Given the description of an element on the screen output the (x, y) to click on. 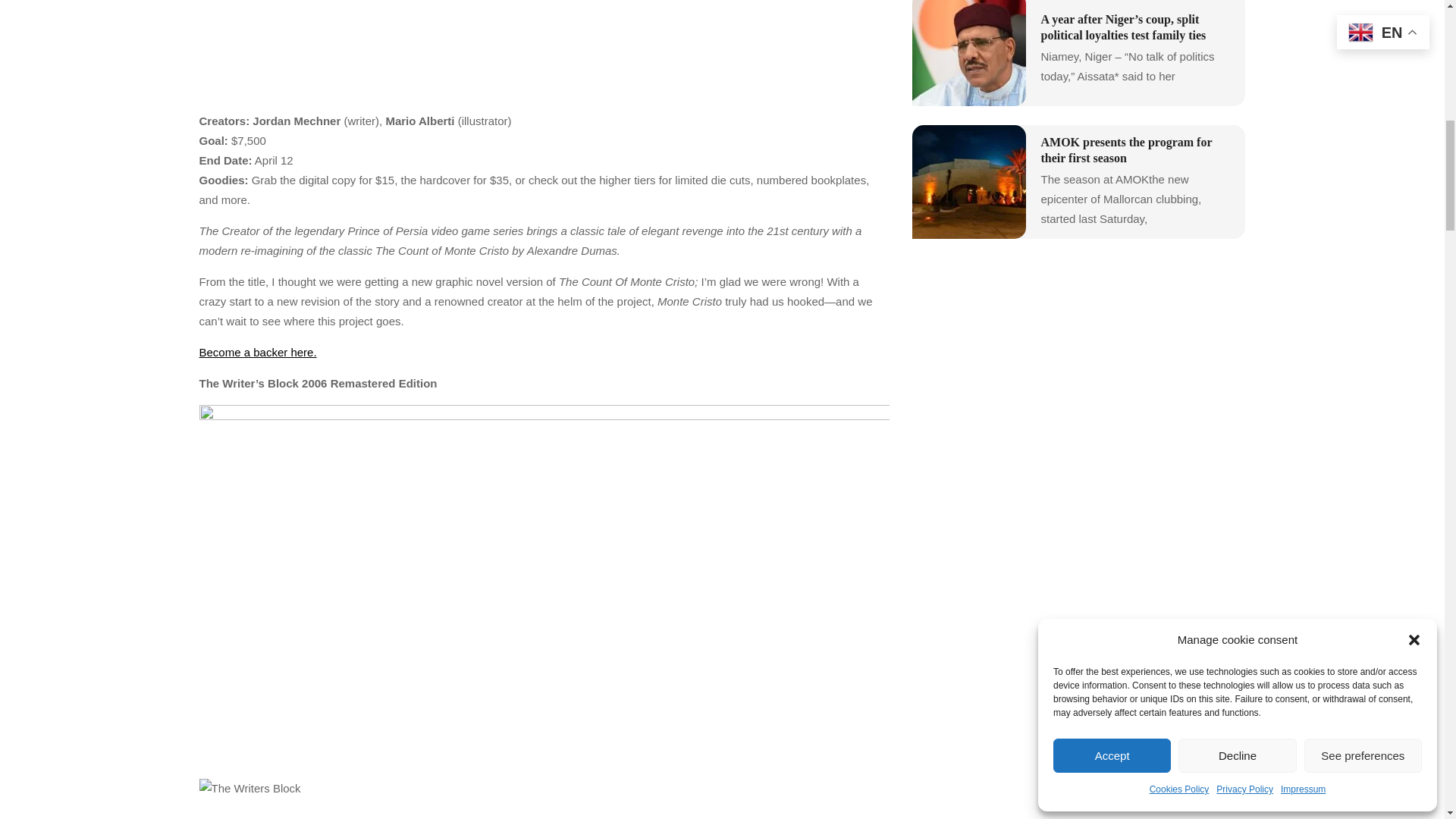
Become a backer here. (256, 351)
